Given the description of an element on the screen output the (x, y) to click on. 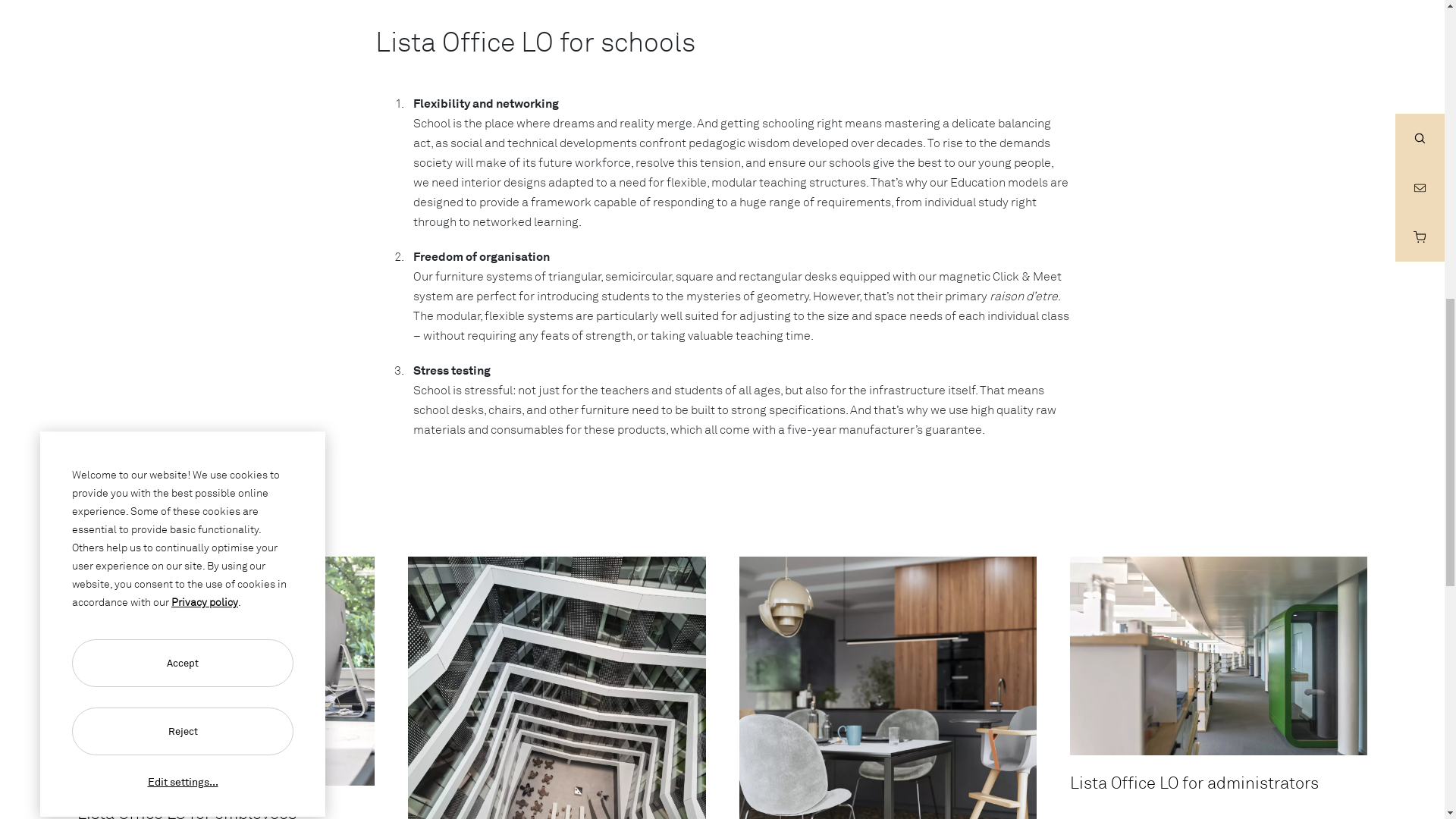
Lista Office LO for administrators (1218, 655)
Lista Office LO for employees (225, 670)
Lista Office LO at home (886, 687)
Lista Office LO for business (555, 687)
